Given the description of an element on the screen output the (x, y) to click on. 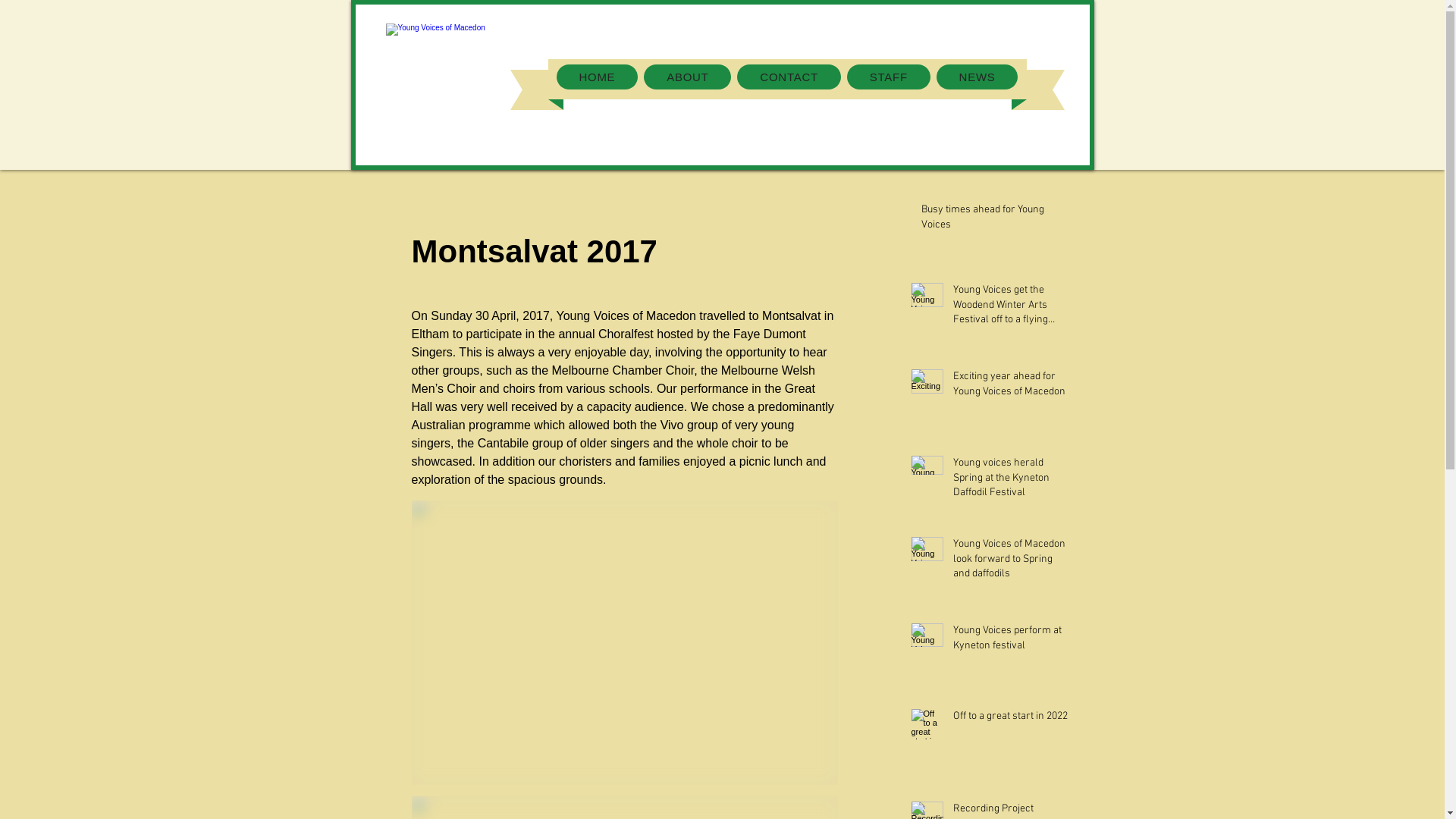
ABOUT Element type: text (687, 76)
Young voices herald Spring at the Kyneton Daffodil Festival Element type: text (1010, 480)
Busy times ahead for Young Voices Element type: text (994, 219)
Exciting year ahead for Young Voices of Macedon Element type: text (1010, 386)
CONTACT Element type: text (788, 76)
Young Voices perform at Kyneton festival Element type: text (1010, 640)
HOME Element type: text (597, 76)
Young Voices of Macedon look forward to Spring and daffodils Element type: text (1010, 561)
NEWS Element type: text (977, 76)
Off to a great start in 2022 Element type: text (1010, 718)
